Given the description of an element on the screen output the (x, y) to click on. 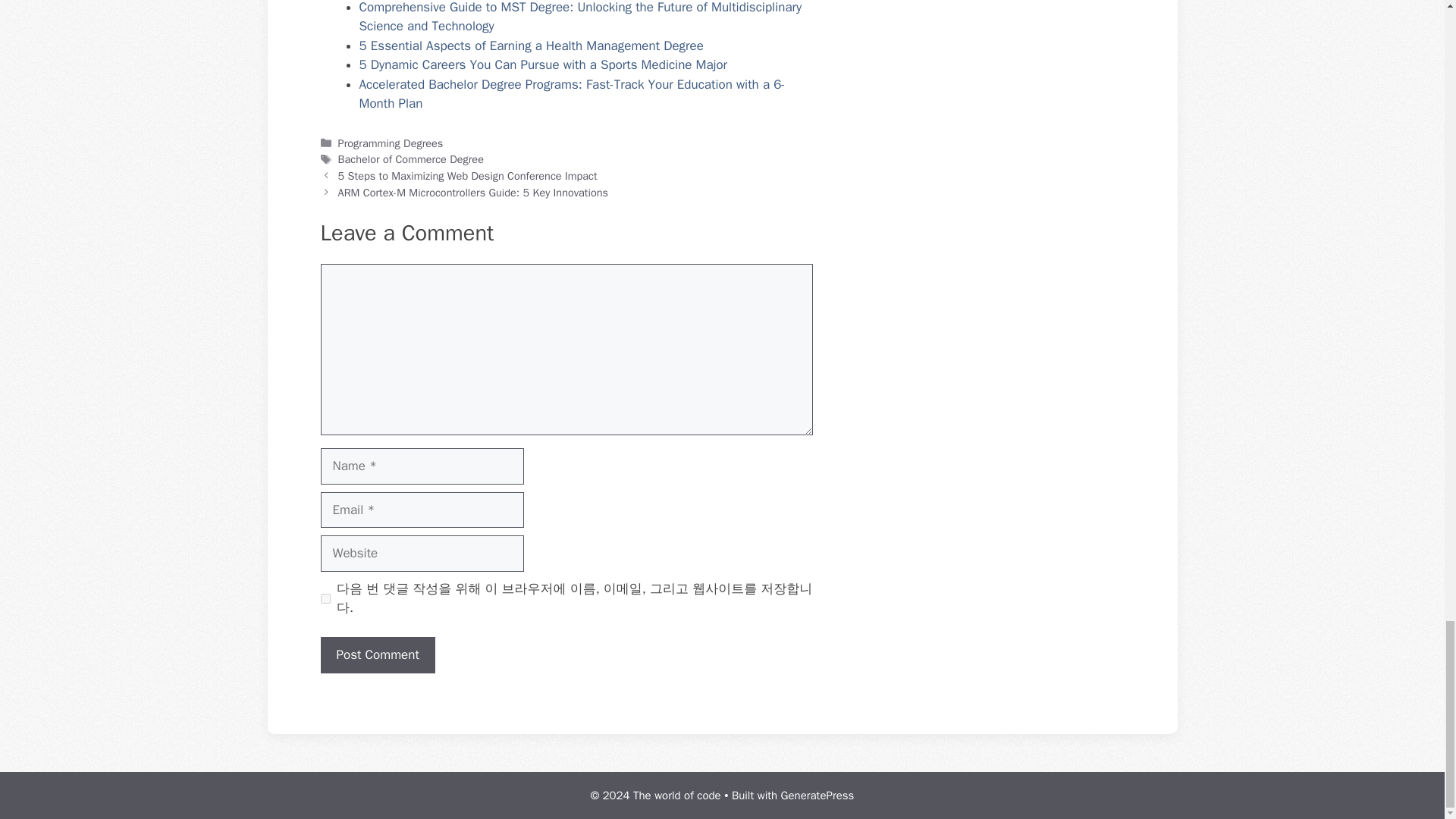
Programming Degrees (390, 142)
Post Comment (376, 655)
5 Steps to Maximizing Web Design Conference Impact (466, 175)
yes (325, 598)
5 Essential Aspects of Earning a Health Management Degree (531, 45)
Post Comment (376, 655)
Bachelor of Commerce Degree (410, 159)
ARM Cortex-M Microcontrollers Guide: 5 Key Innovations (472, 192)
